Given the description of an element on the screen output the (x, y) to click on. 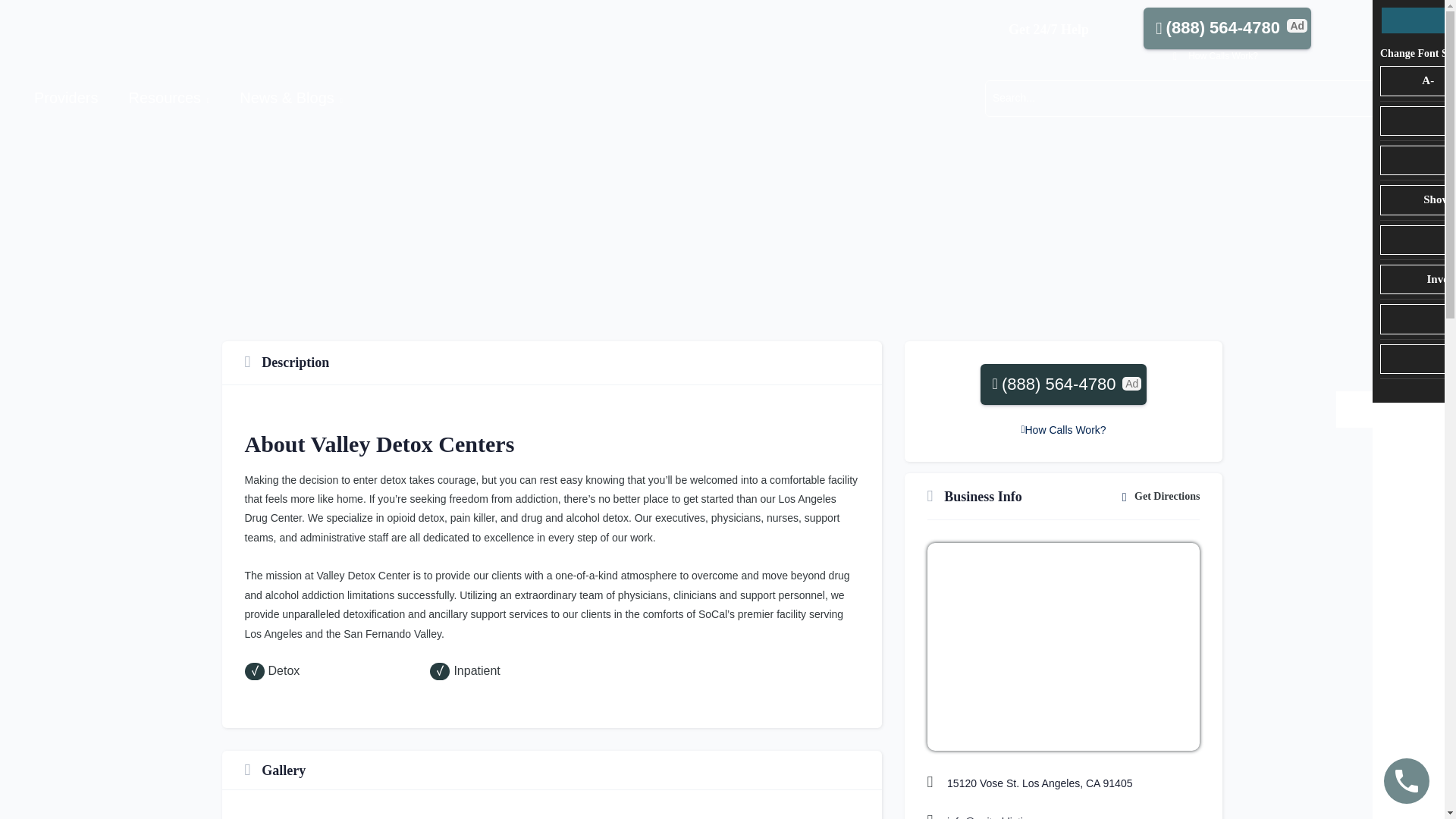
Search (1179, 98)
Accessibility Helper sidebar (1354, 409)
